Given the description of an element on the screen output the (x, y) to click on. 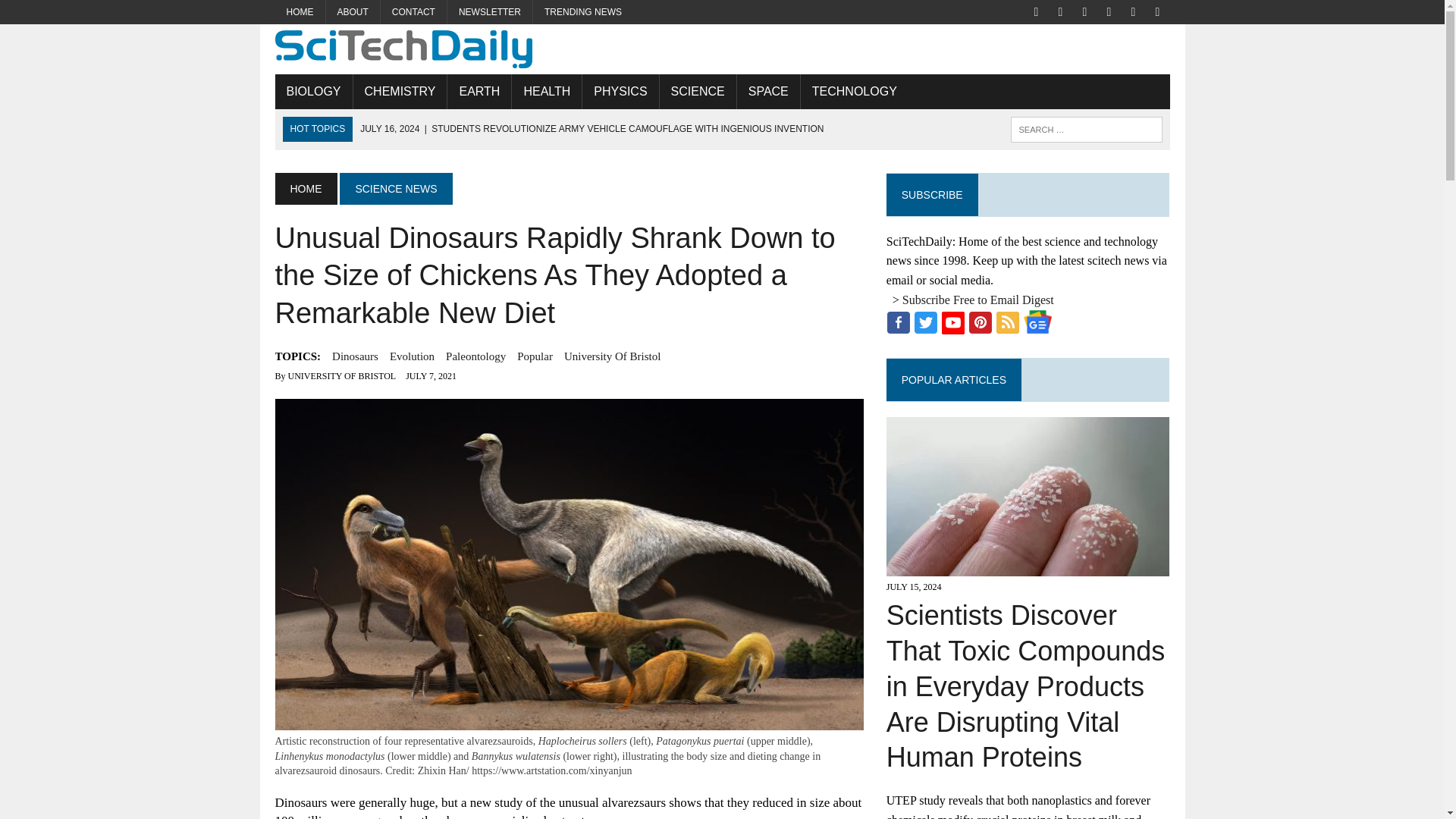
BIOLOGY (313, 91)
TRENDING NEWS (582, 12)
SCIENCE (697, 91)
ABOUT (353, 12)
EARTH (478, 91)
Search (75, 14)
Contact SciTechDaily.com (413, 12)
SCIENCE NEWS (395, 188)
TECHNOLOGY (854, 91)
NEWSLETTER (489, 12)
HEALTH (546, 91)
SciTechDaily (722, 48)
SciTechDaily Newsletter (489, 12)
HOME (305, 188)
PHYSICS (620, 91)
